Given the description of an element on the screen output the (x, y) to click on. 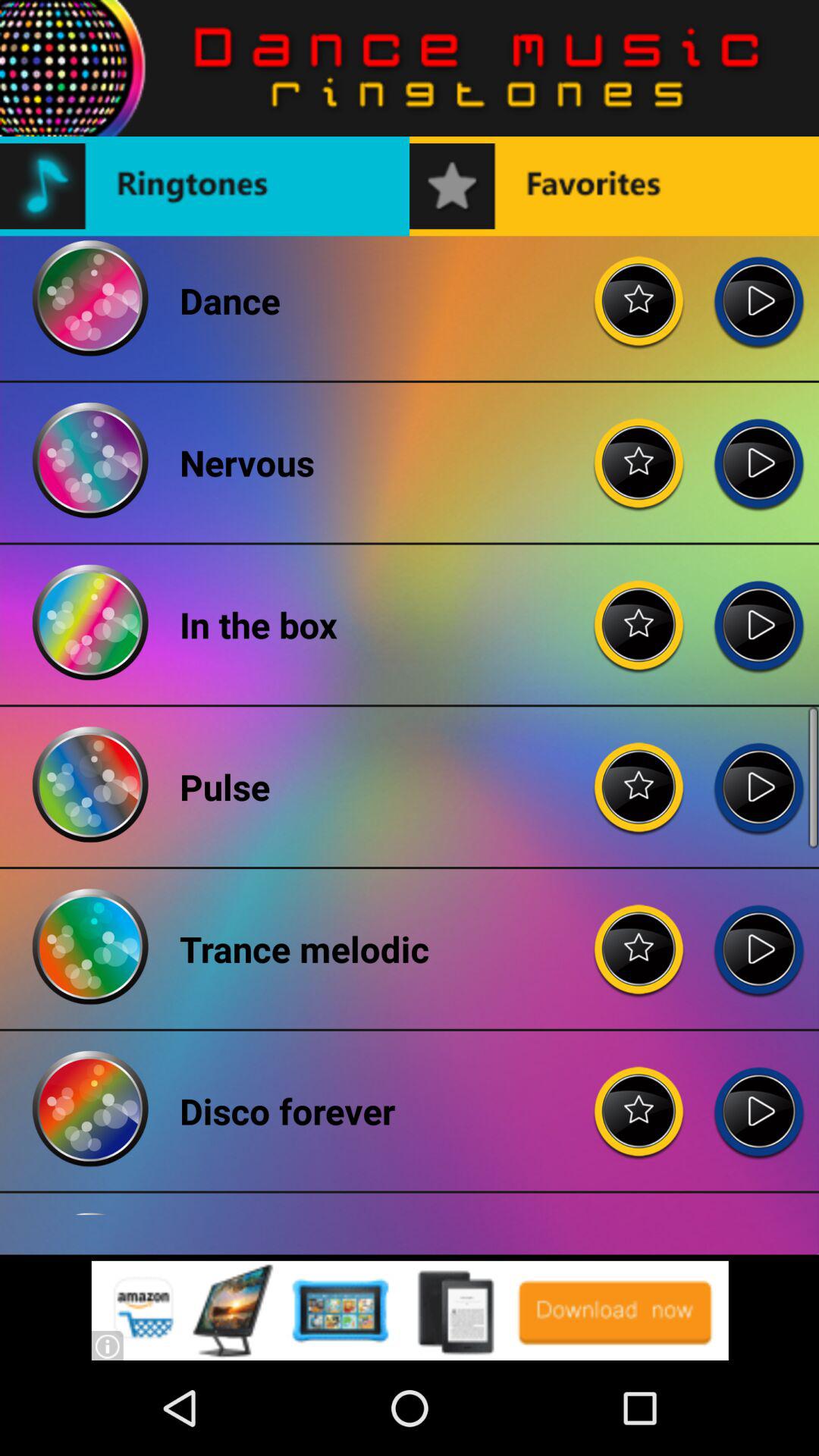
add to favorites (639, 451)
